Given the description of an element on the screen output the (x, y) to click on. 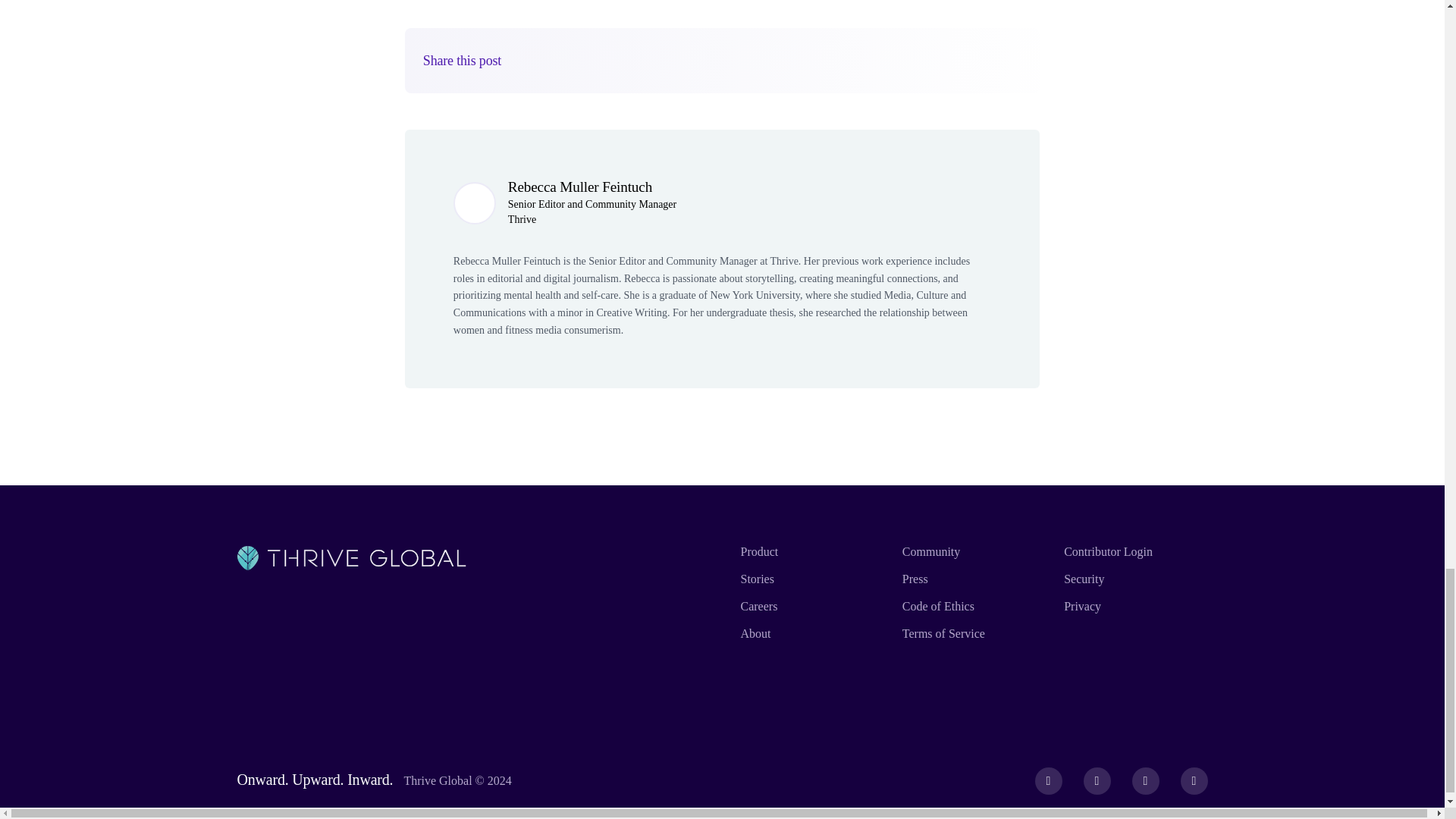
Rebecca Muller Feintuch (580, 186)
LinkedIn (1194, 780)
Twitter (1096, 780)
Instagram (1145, 780)
Facebook (1048, 780)
